Given the description of an element on the screen output the (x, y) to click on. 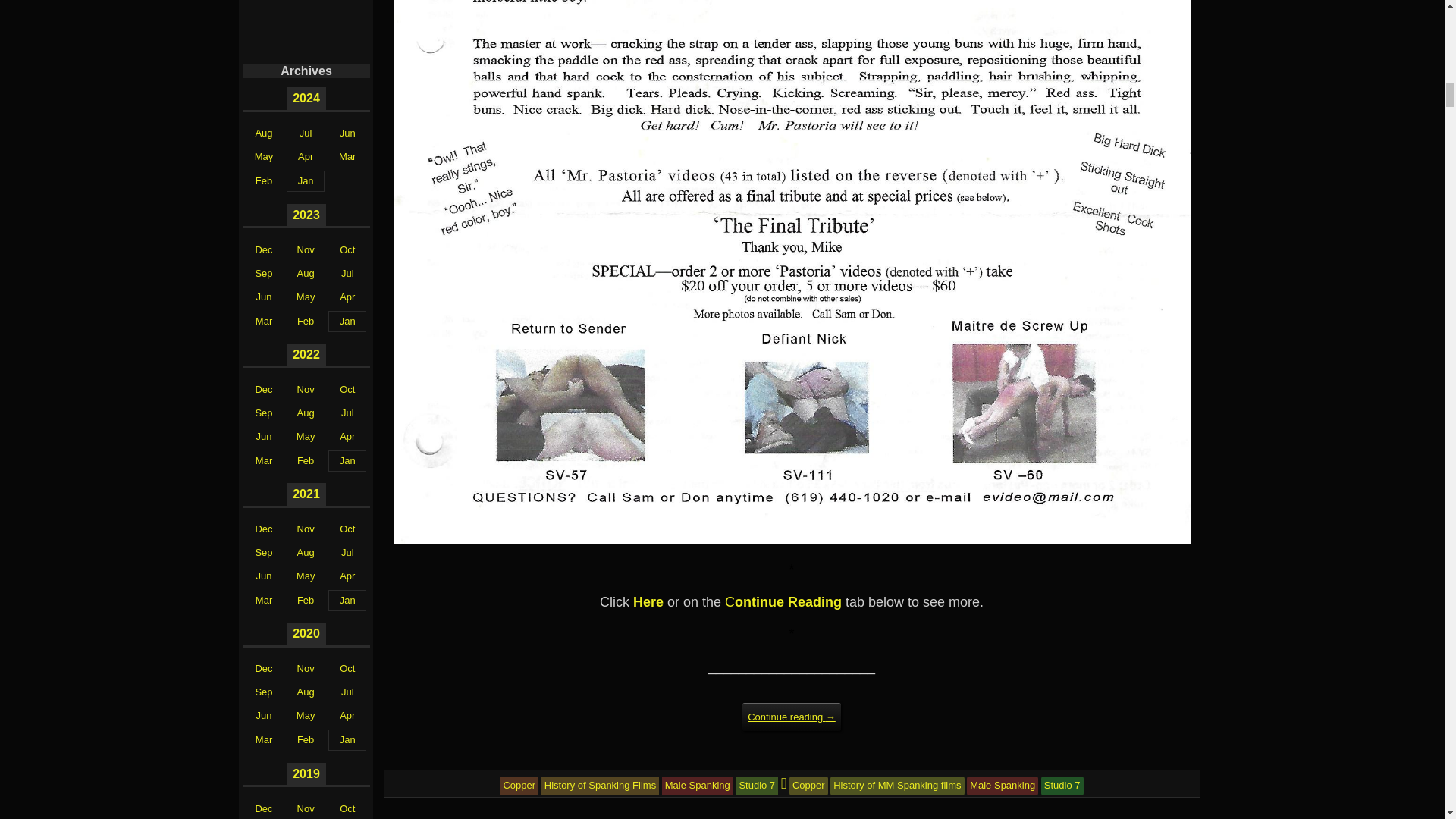
Continue Reading (783, 601)
Male Spanking (697, 785)
Copper (808, 785)
Studio 7 (756, 785)
Here (648, 601)
Copper (518, 785)
History of Spanking Films (600, 785)
